Given the description of an element on the screen output the (x, y) to click on. 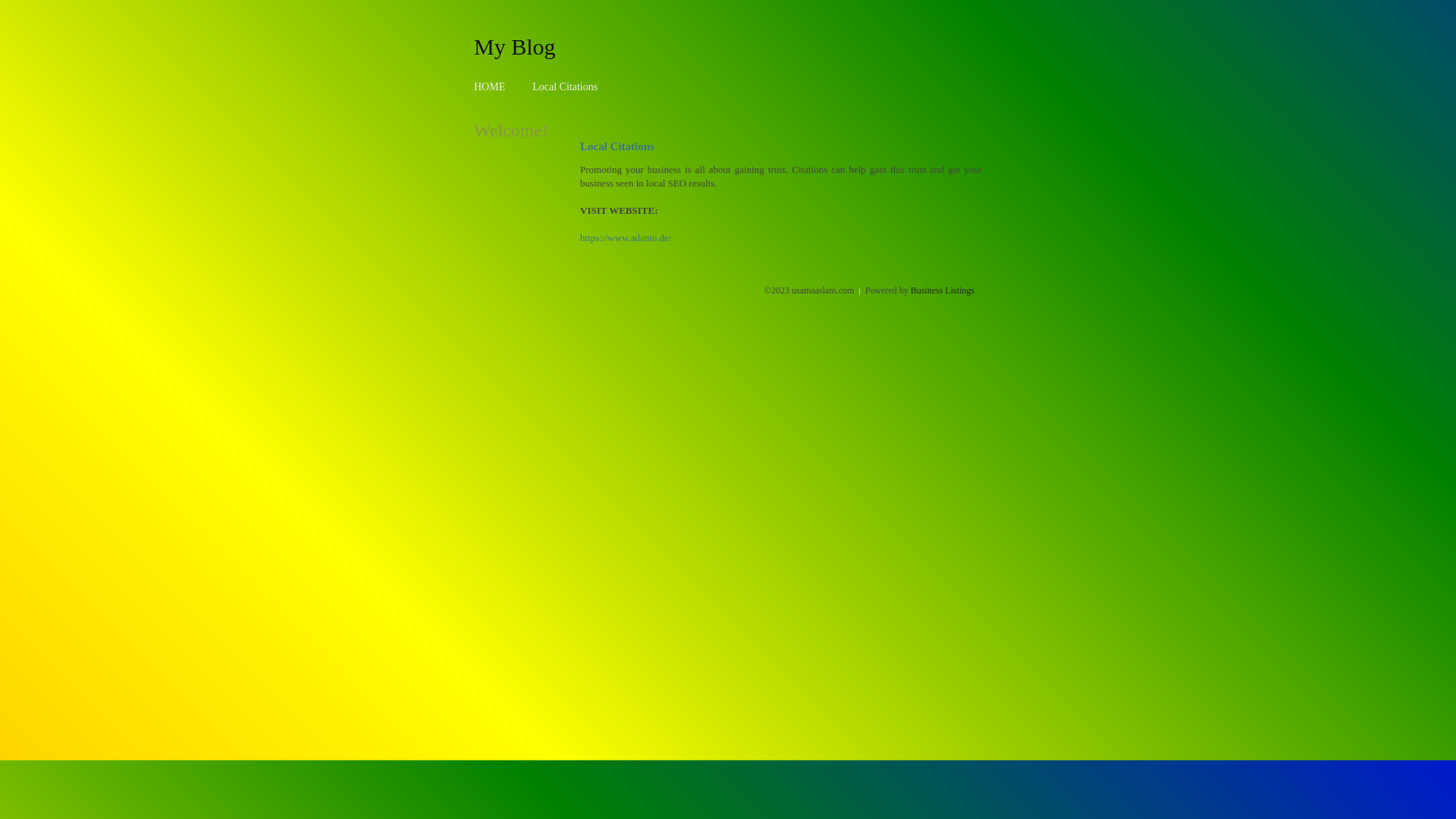
HOME Element type: text (489, 86)
Local Citations Element type: text (564, 86)
My Blog Element type: text (514, 46)
Business Listings Element type: text (942, 290)
https://www.adanto.de/ Element type: text (625, 237)
